Given the description of an element on the screen output the (x, y) to click on. 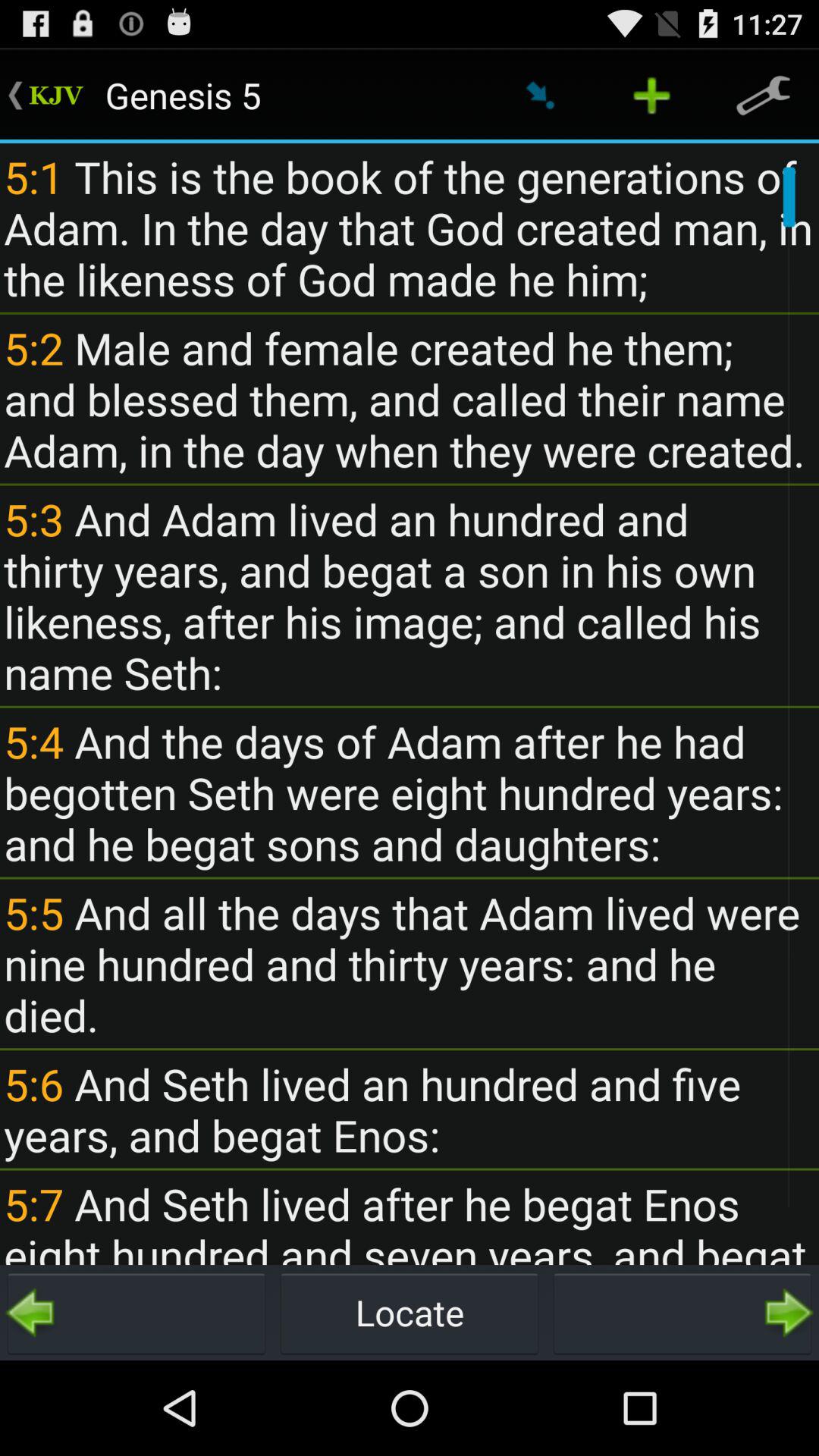
select button to the left of locate icon (136, 1312)
